Given the description of an element on the screen output the (x, y) to click on. 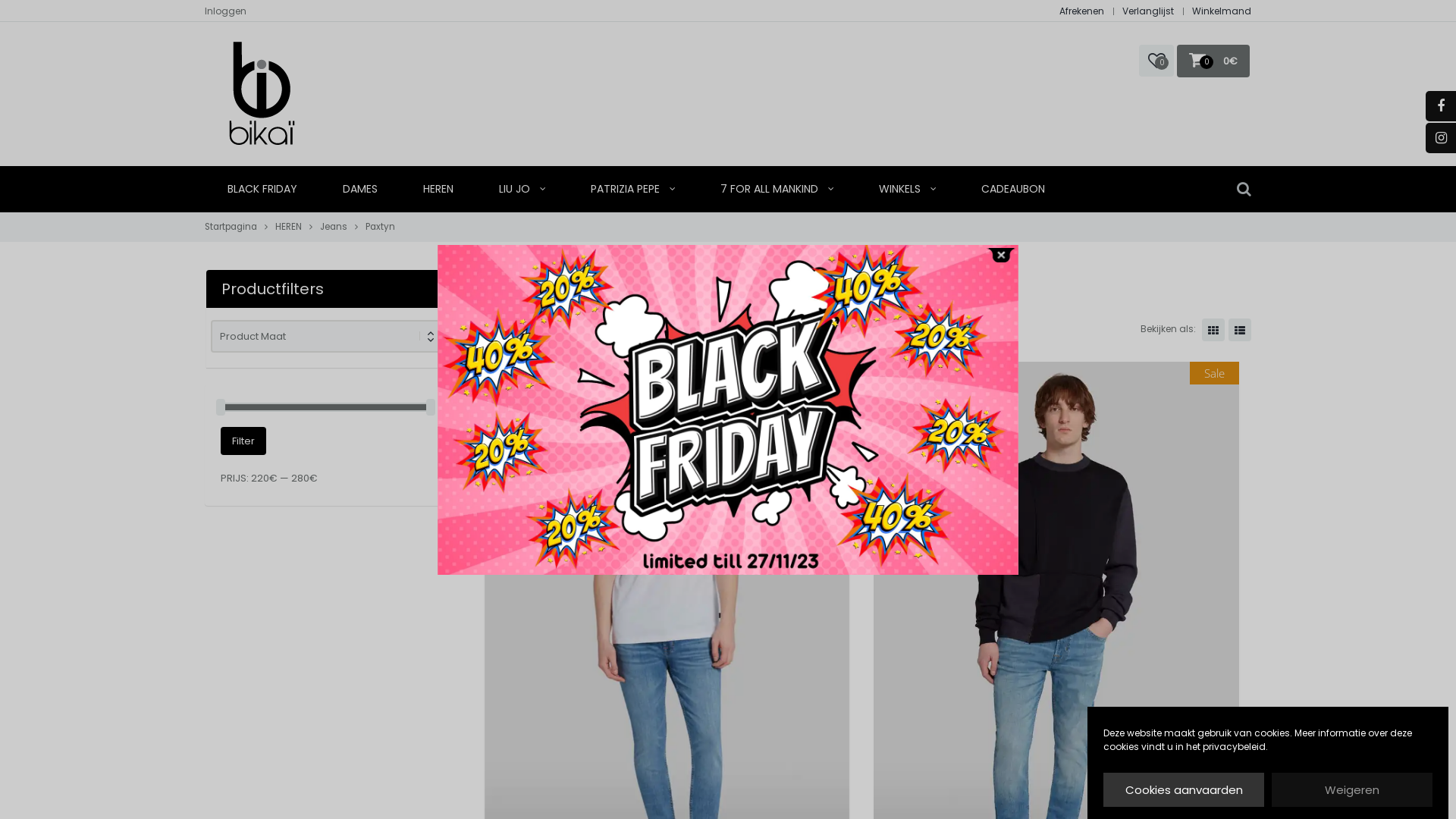
HEREN Element type: text (438, 189)
7 FOR ALL MANKIND Element type: text (776, 189)
Inloggen Element type: text (225, 10)
List Element type: text (1239, 329)
Afrekenen Element type: text (1081, 10)
Startpagina Element type: text (230, 226)
HEREN Element type: text (288, 226)
Filter Element type: text (243, 440)
 Aflopend/Oplopend Element type: hover (642, 328)
0 Element type: text (1156, 60)
Verlanglijst Element type: text (1147, 10)
Grid Element type: text (1212, 329)
CADEAUBON Element type: text (1012, 189)
Winkelmand Element type: text (1221, 10)
Cookies aanvaarden Element type: text (1183, 789)
PATRIZIA PEPE Element type: text (632, 189)
privacybeleid Element type: text (1233, 746)
BLACK FRIDAY Element type: text (262, 189)
LIU JO Element type: text (521, 189)
Weigeren Element type: text (1351, 789)
Sluiten Element type: hover (1000, 254)
DAMES Element type: text (360, 189)
Jeans Element type: text (333, 226)
WINKELS Element type: text (907, 189)
